Given the description of an element on the screen output the (x, y) to click on. 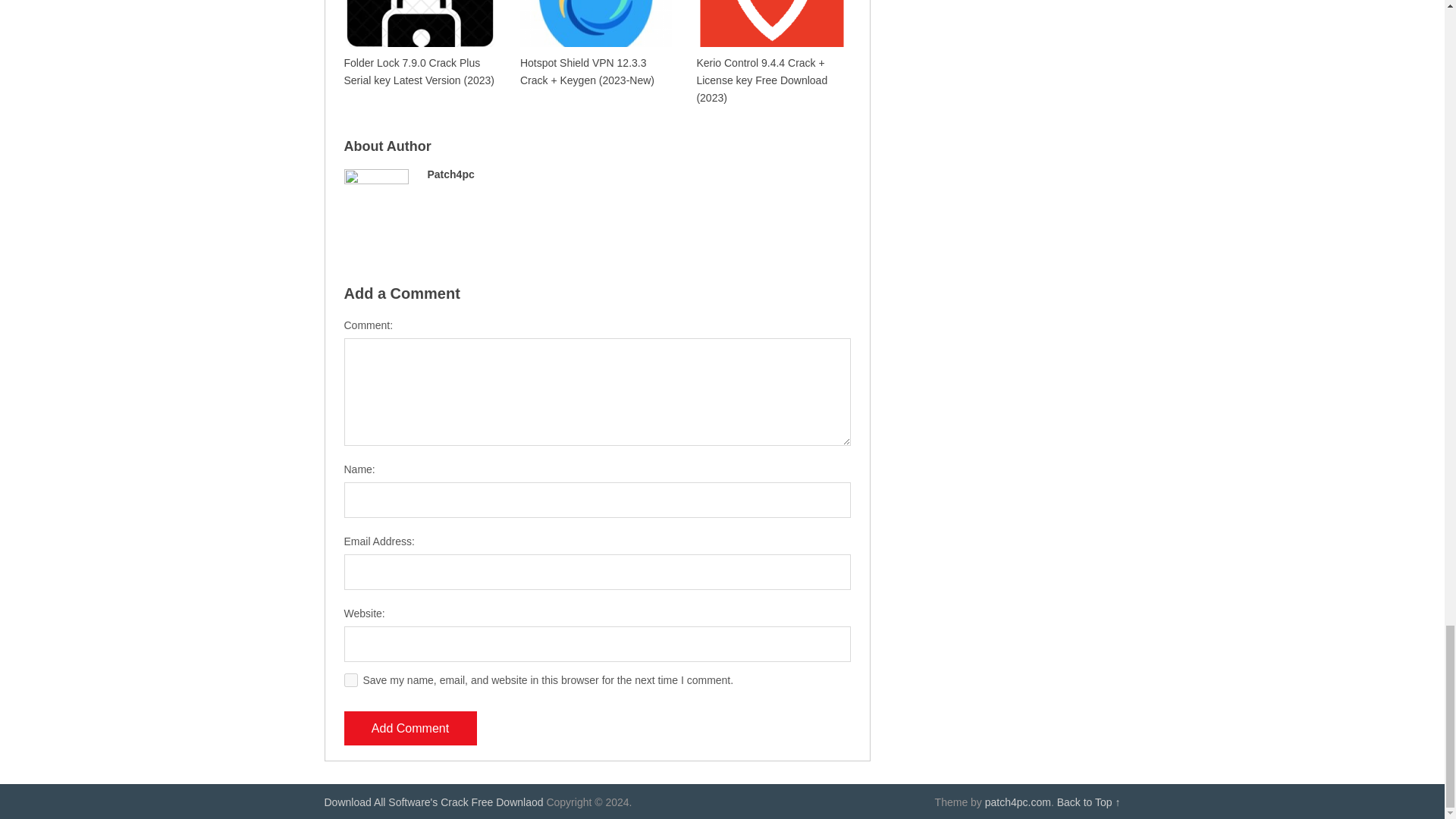
Download All Patch Software With Full Version Free Download (433, 802)
Add Comment (410, 728)
yes (350, 680)
Add Comment (410, 728)
